Given the description of an element on the screen output the (x, y) to click on. 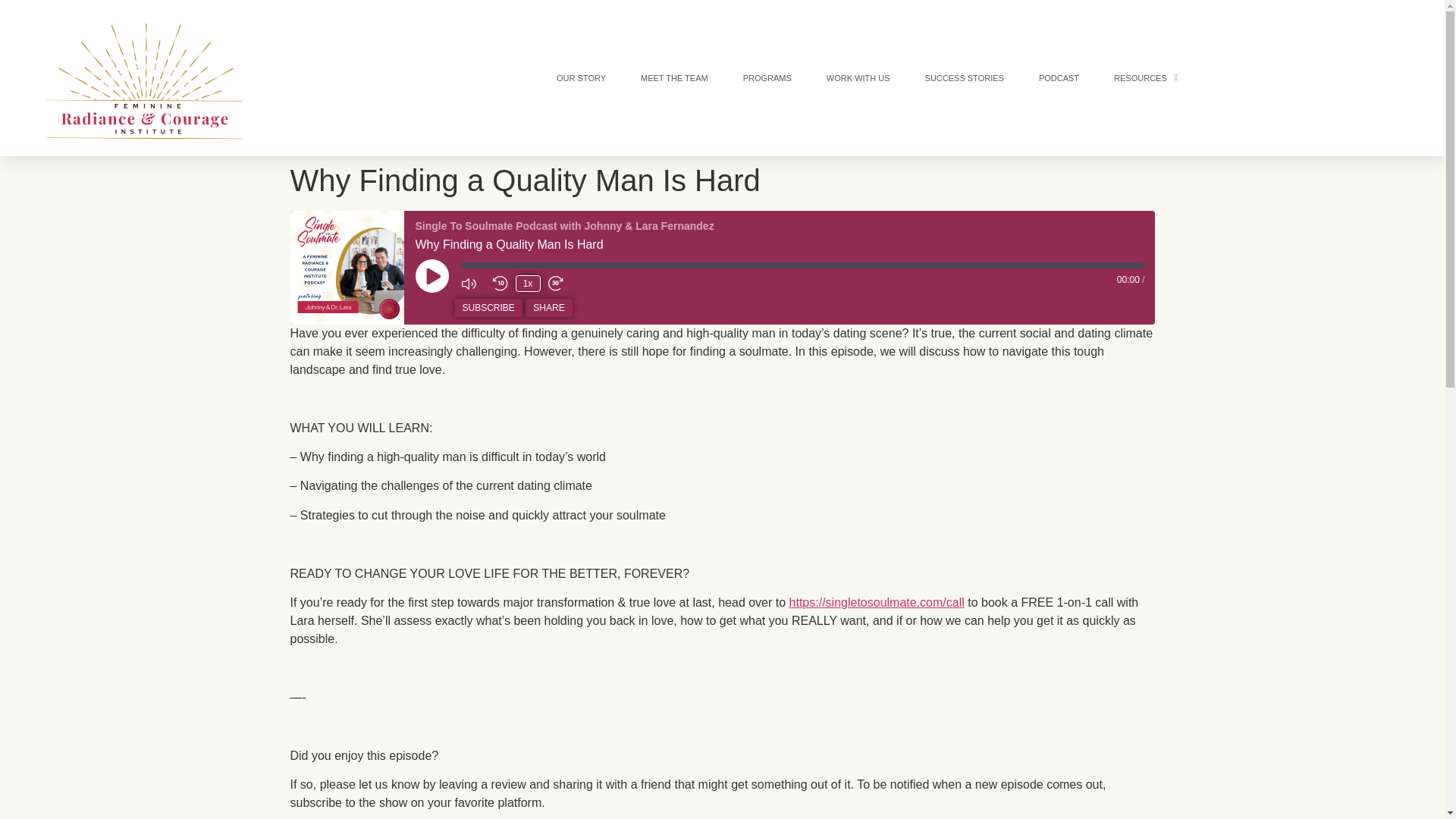
MEET THE TEAM (674, 78)
OUR STORY (581, 78)
PROGRAMS (767, 78)
1x (527, 283)
SUCCESS STORIES (964, 78)
WORK WITH US (857, 78)
Share (548, 307)
Playback Speed (527, 283)
SUBSCRIBE (488, 307)
SHARE (548, 307)
Fast Forward 30 seconds (559, 283)
RESOURCES (1145, 78)
Rewind 10 seconds (500, 283)
Play (431, 275)
